Given the description of an element on the screen output the (x, y) to click on. 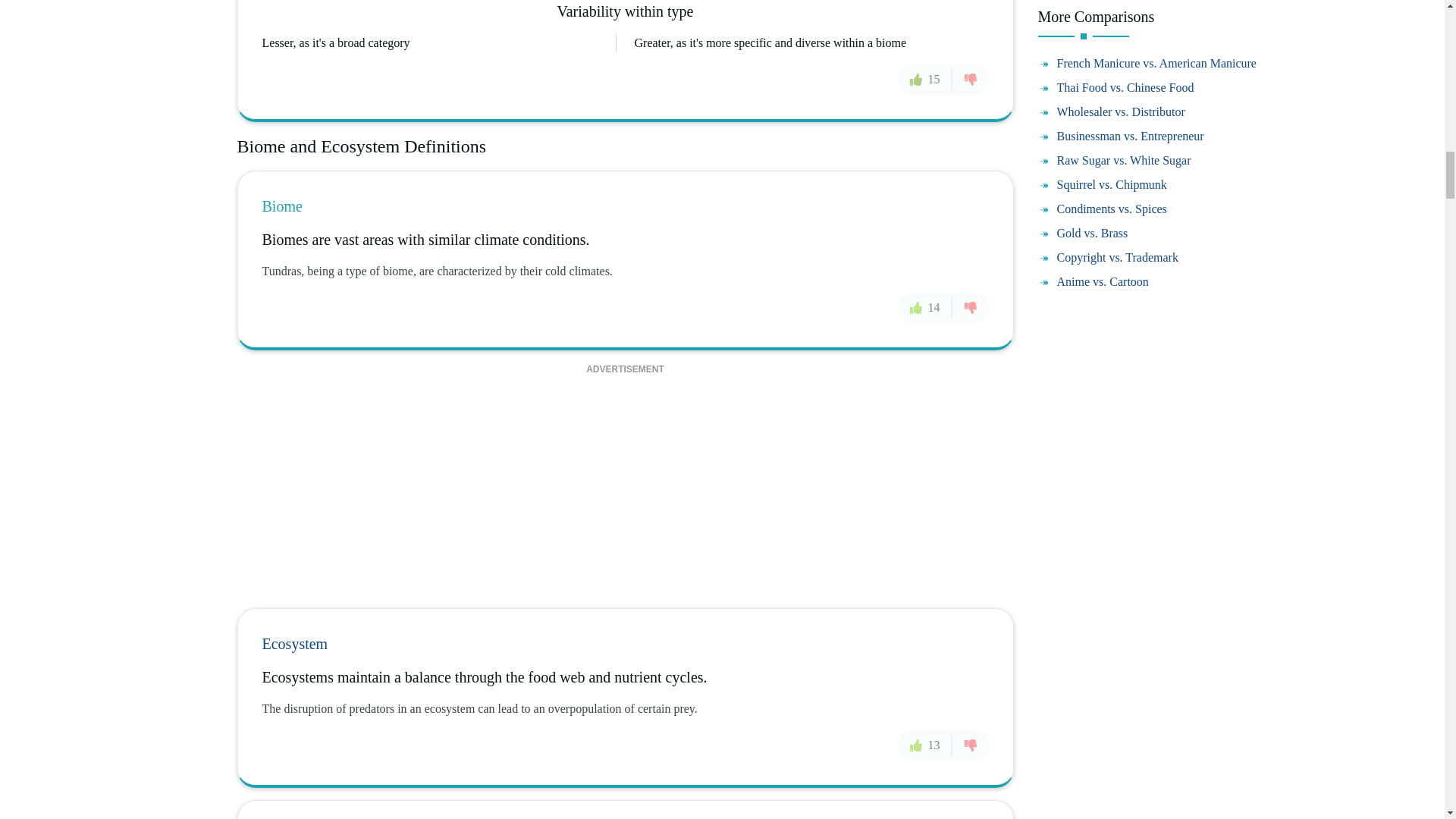
13 (925, 745)
15 (925, 79)
14 (925, 307)
